Given the description of an element on the screen output the (x, y) to click on. 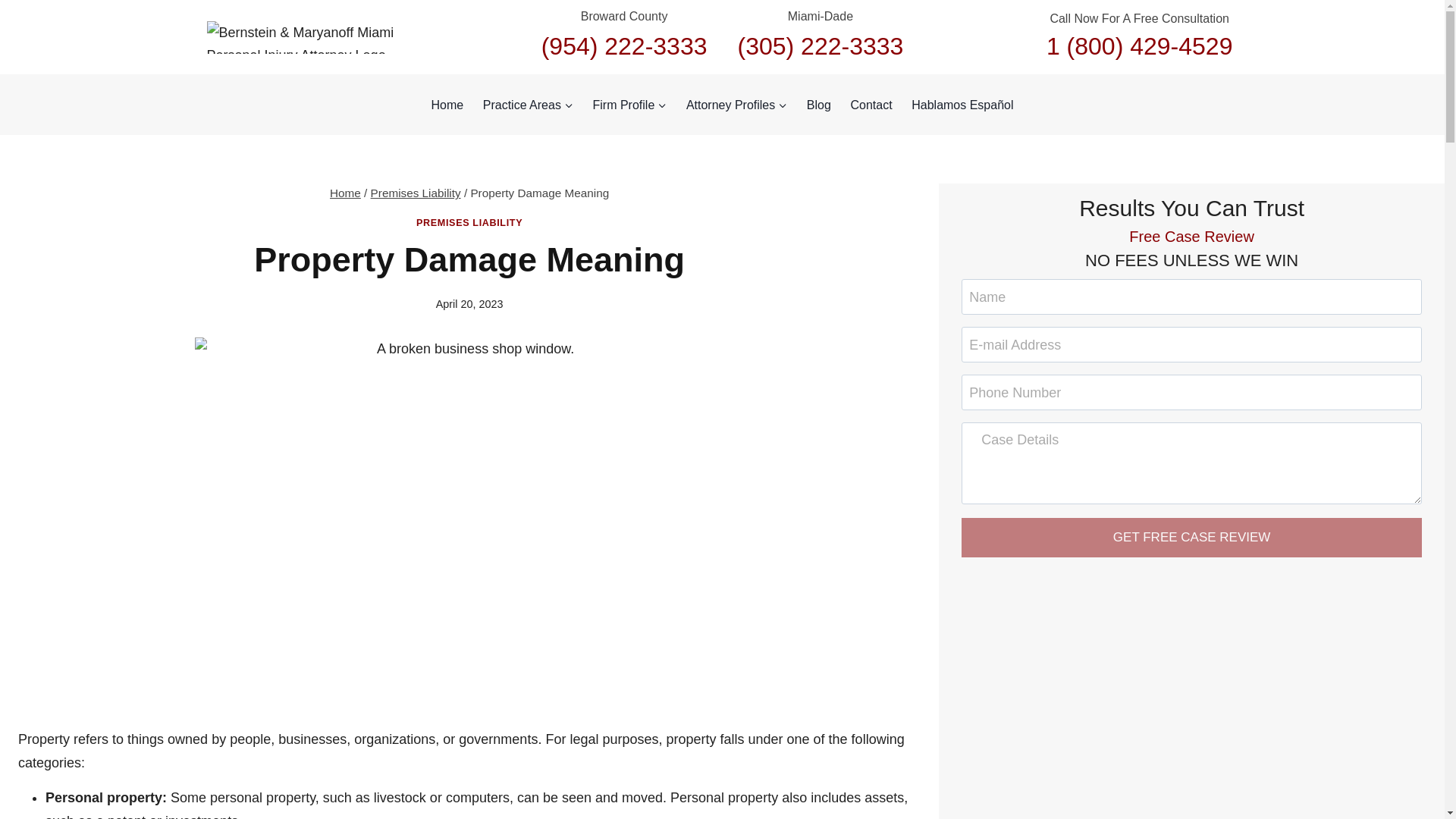
Blog (818, 104)
Contact (871, 104)
Practice Areas (528, 104)
Home (447, 104)
Firm Profile (630, 104)
Premises Liability (416, 192)
Home (345, 192)
GET FREE CASE REVIEW (1191, 537)
Attorney Profiles (736, 104)
PREMISES LIABILITY (469, 222)
